Given the description of an element on the screen output the (x, y) to click on. 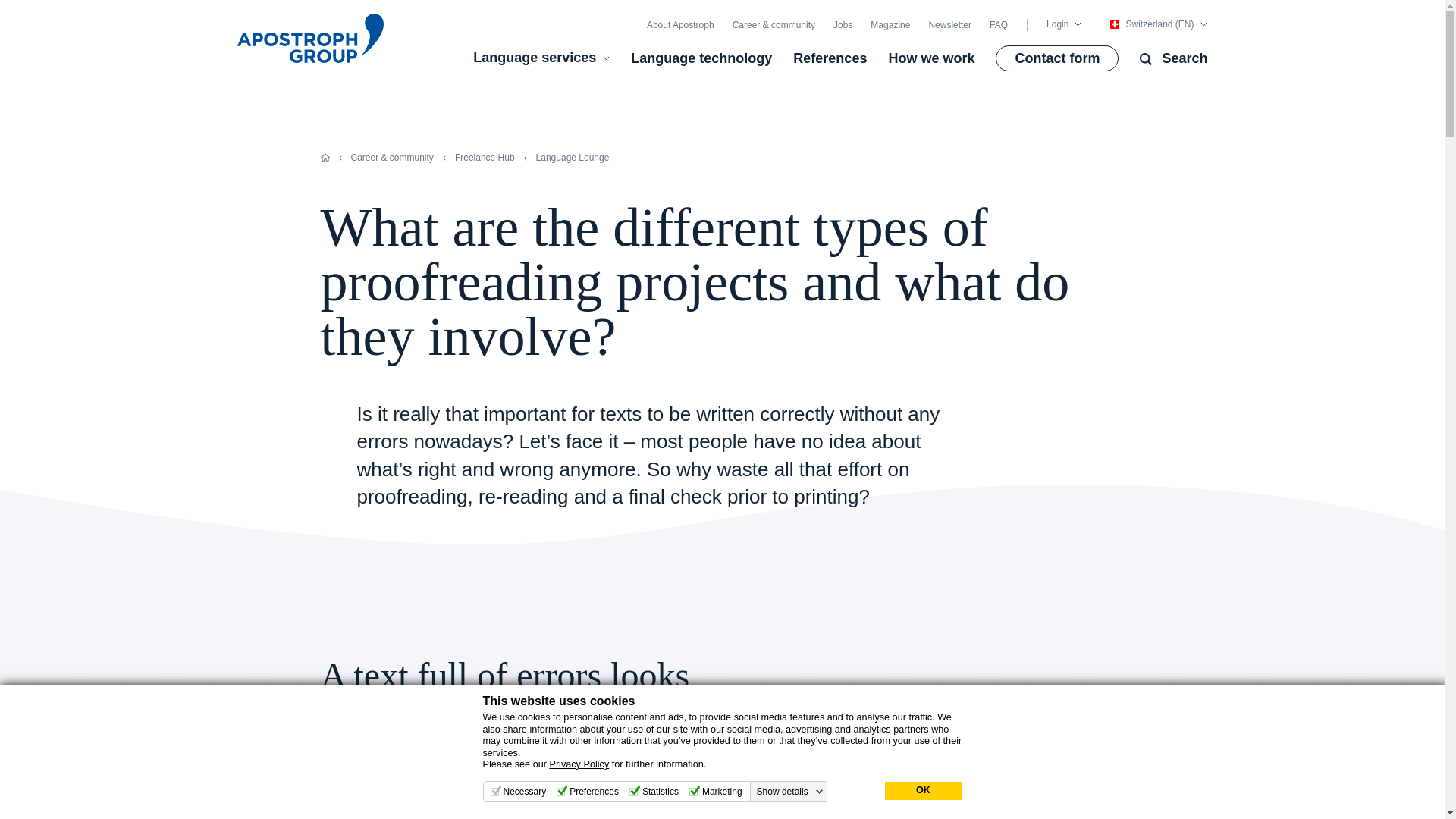
Privacy Policy (578, 764)
Show details (790, 791)
OK (921, 791)
